Given the description of an element on the screen output the (x, y) to click on. 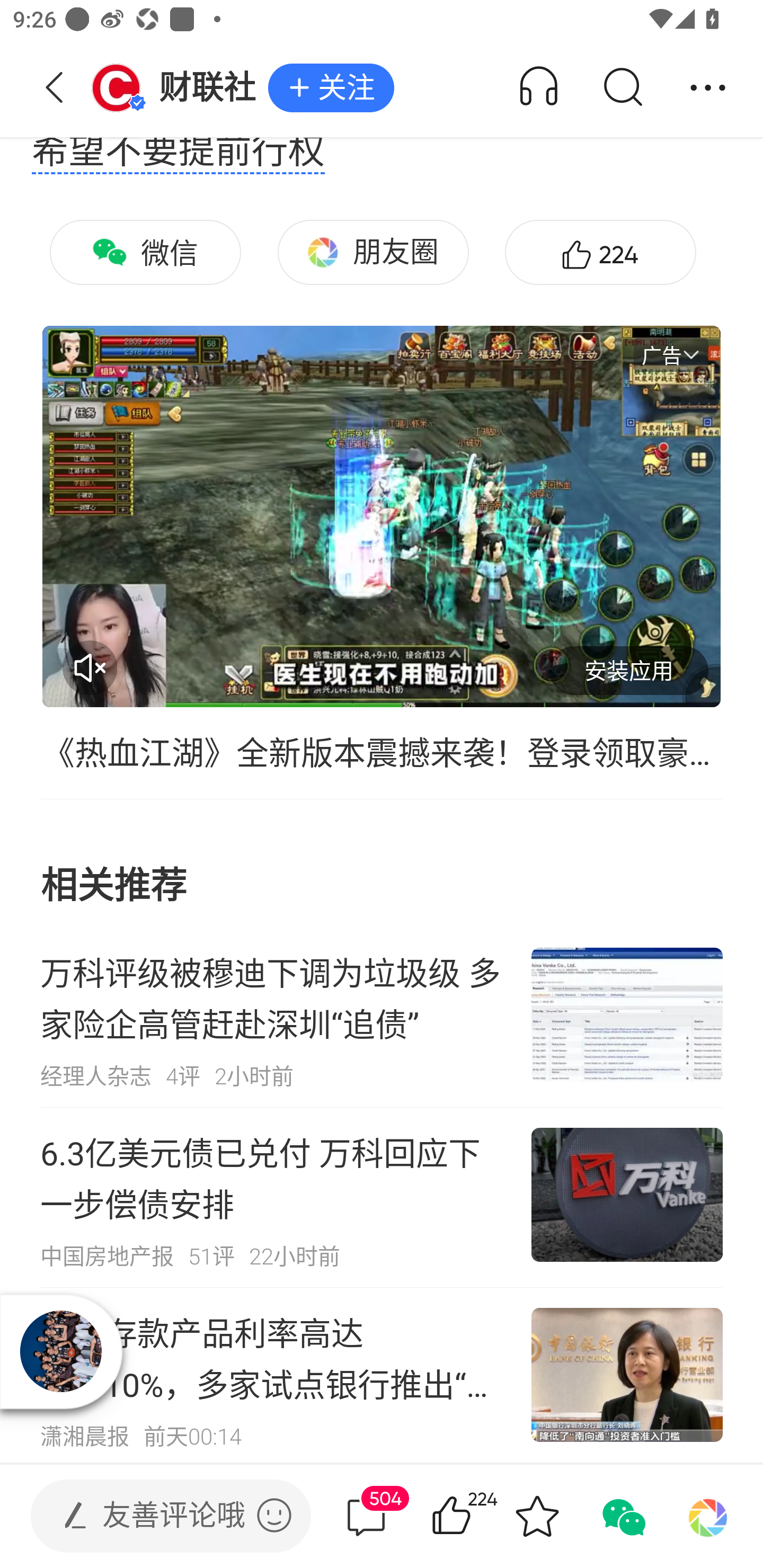
财联社 (179, 87)
搜索  (622, 87)
分享  (707, 87)
 返回 (54, 87)
 关注 (330, 88)
微信 分享到微信 (145, 252)
朋友圈 分享到朋友圈 (373, 252)
224赞 (600, 252)
广告 (671, 354)
音量开关 (89, 666)
安装应用 (628, 670)
《热血江湖》全新版本震撼来袭！登录领取豪华礼包！ (381, 750)
相关推荐 (381, 863)
万科评级被穆迪下调为垃圾级 多家险企高管赶赴深圳“追债” 经理人杂志 4评 2小时前 (381, 1017)
6.3亿美元债已兑付 万科回应下一步偿债安排 中国房地产报 51评 22小时前 (381, 1197)
部分存款产品利率高达6%~10%，多家试点银行推出“跨境理财通”相关产品 潇湘晨报 前天00:14 (381, 1374)
播放器 (61, 1351)
发表评论  友善评论哦 发表评论  (155, 1516)
504评论  504 评论 (365, 1516)
224赞 (476, 1516)
收藏  (536, 1516)
分享到微信  (622, 1516)
分享到朋友圈 (707, 1516)
 (274, 1515)
